Given the description of an element on the screen output the (x, y) to click on. 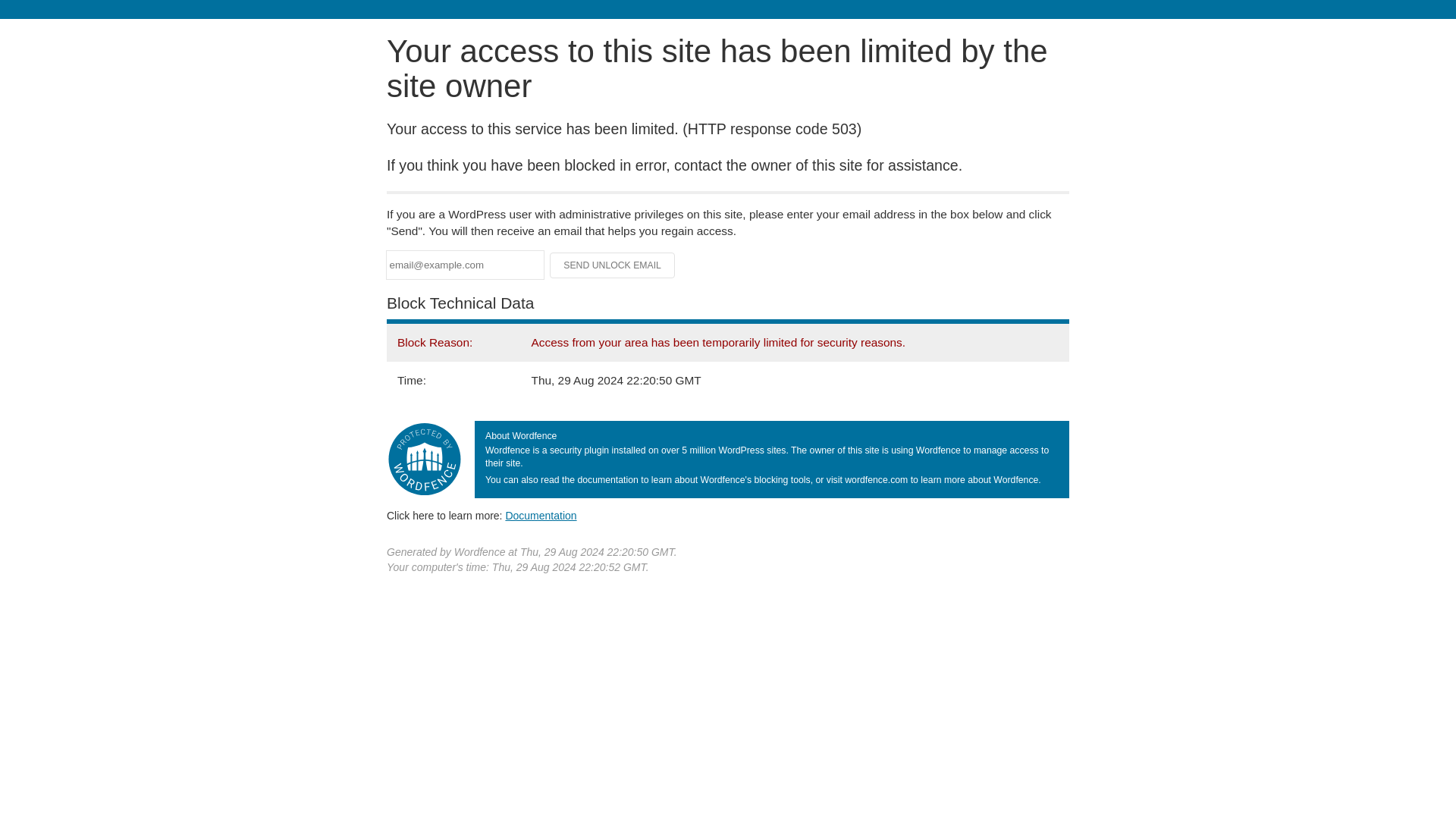
Send Unlock Email (612, 265)
Documentation (540, 515)
Send Unlock Email (612, 265)
